Given the description of an element on the screen output the (x, y) to click on. 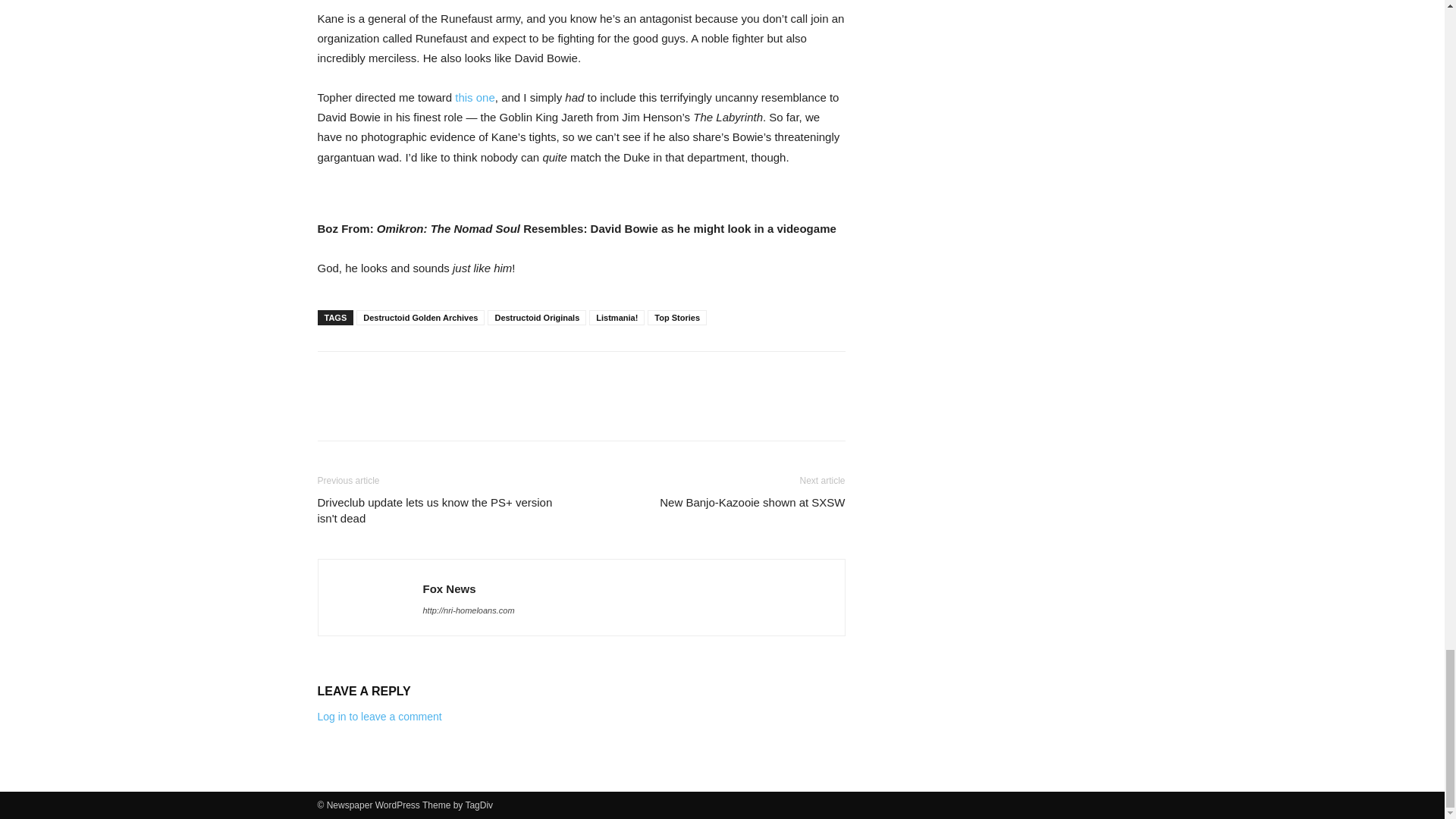
Fox News (449, 588)
bottomFacebookLike (430, 375)
Destructoid Golden Archives (420, 317)
Top Stories (676, 317)
Destructoid Originals (536, 317)
this one (474, 97)
Listmania! (617, 317)
New Banjo-Kazooie shown at SXSW (751, 502)
